Given the description of an element on the screen output the (x, y) to click on. 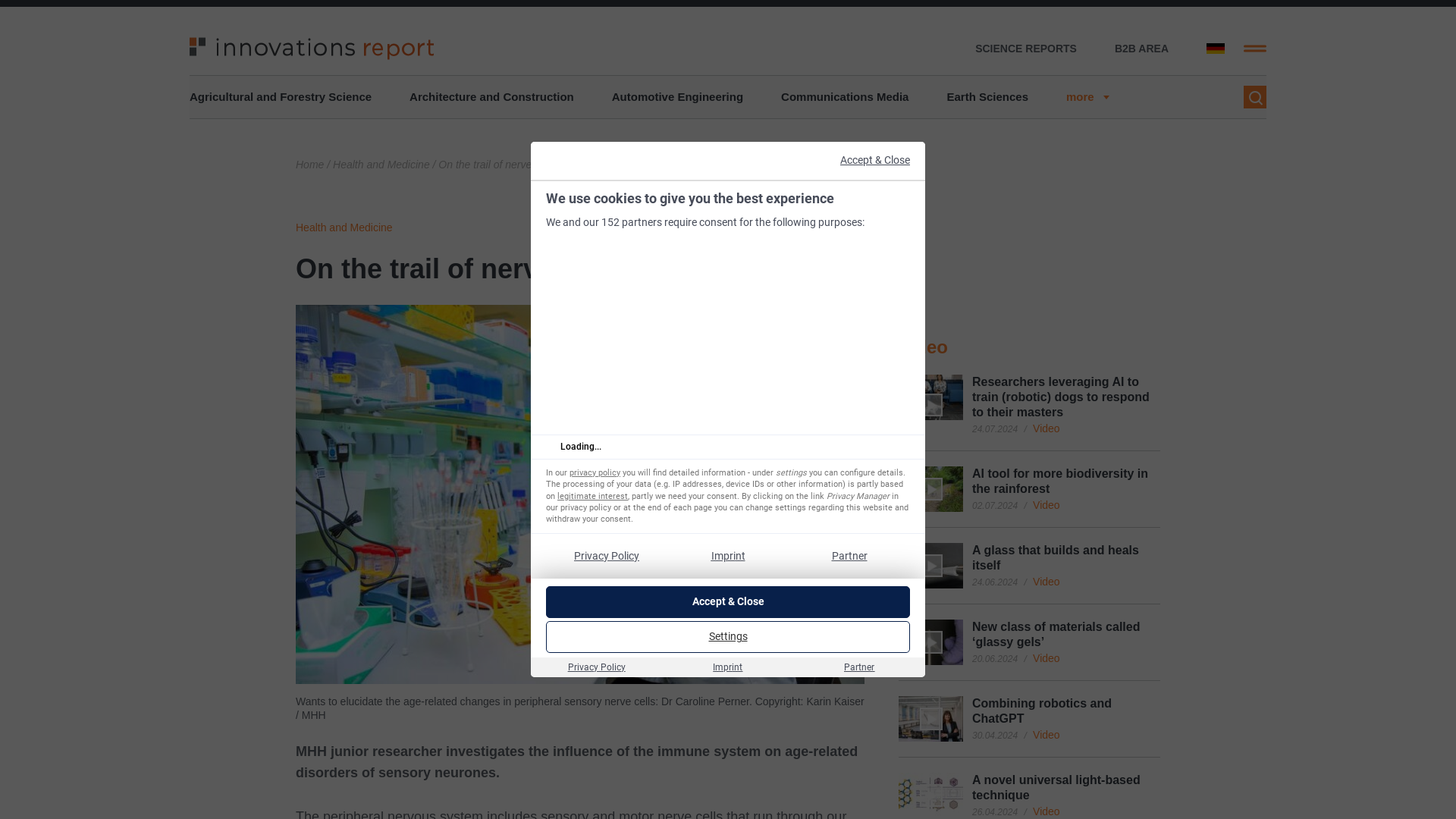
Architecture and Construction (491, 96)
Communications Media (844, 96)
B2B AREA (1142, 48)
SCIENCE REPORTS (1026, 48)
Agricultural and Forestry Science (280, 96)
Automotive Engineering (676, 96)
Earth Sciences (986, 96)
